Given the description of an element on the screen output the (x, y) to click on. 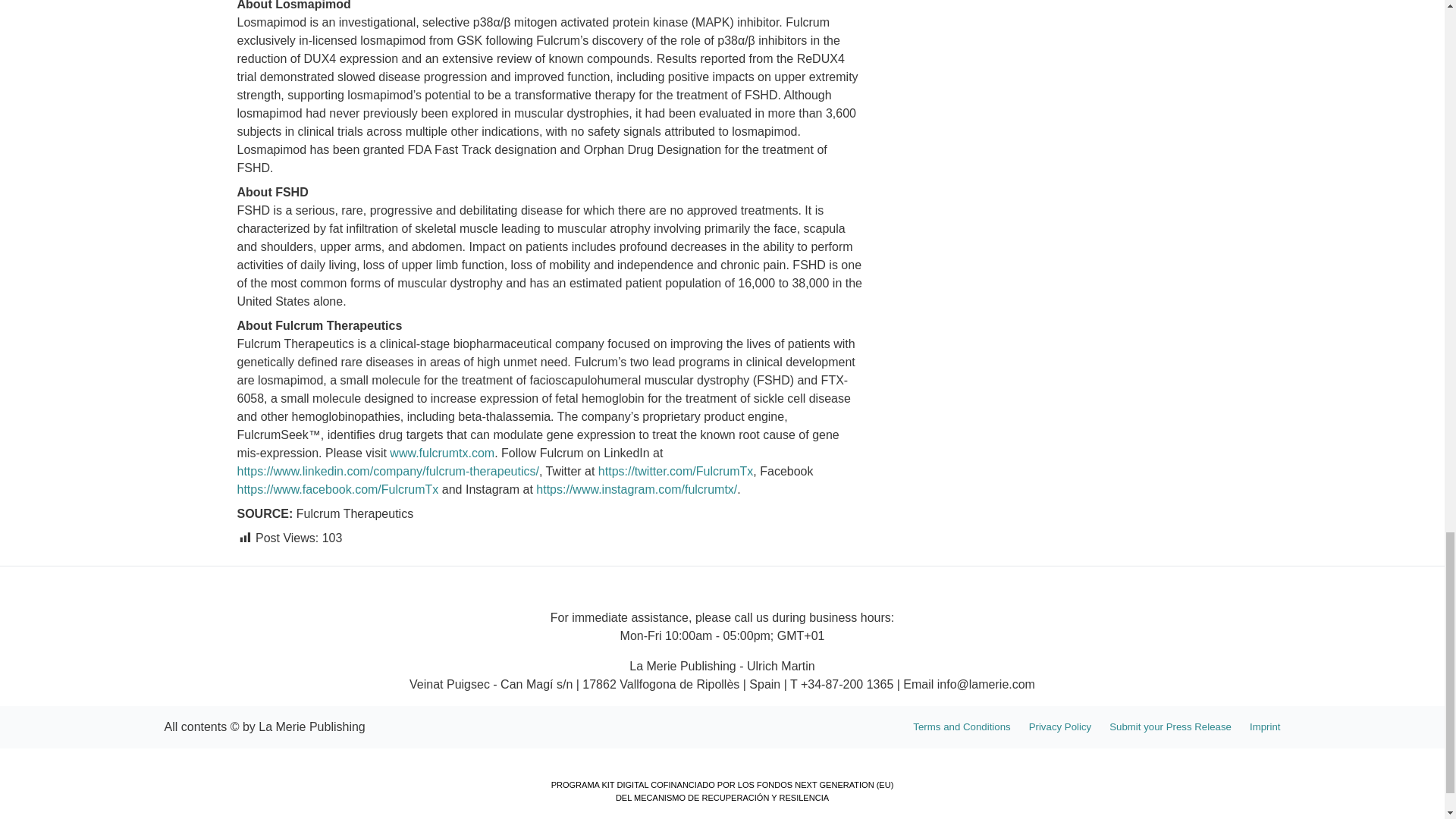
www.fulcrumtx.com (442, 452)
